Given the description of an element on the screen output the (x, y) to click on. 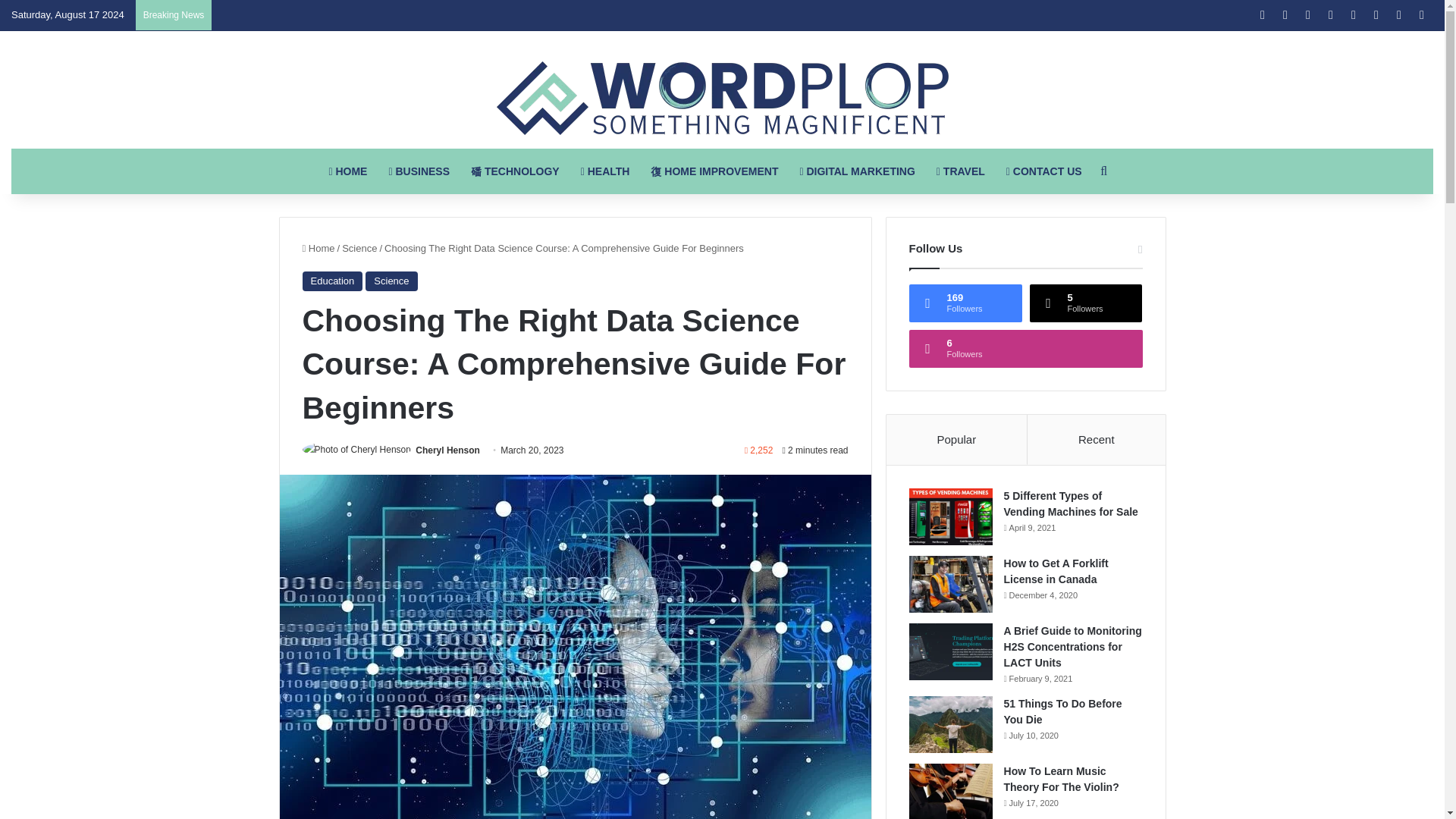
Science (390, 281)
WordPlop (722, 98)
Education (331, 281)
CONTACT US (1044, 171)
Cheryl Henson (447, 450)
BUSINESS (418, 171)
Cheryl Henson (447, 450)
TECHNOLOGY (515, 171)
TRAVEL (960, 171)
Home (317, 247)
